Given the description of an element on the screen output the (x, y) to click on. 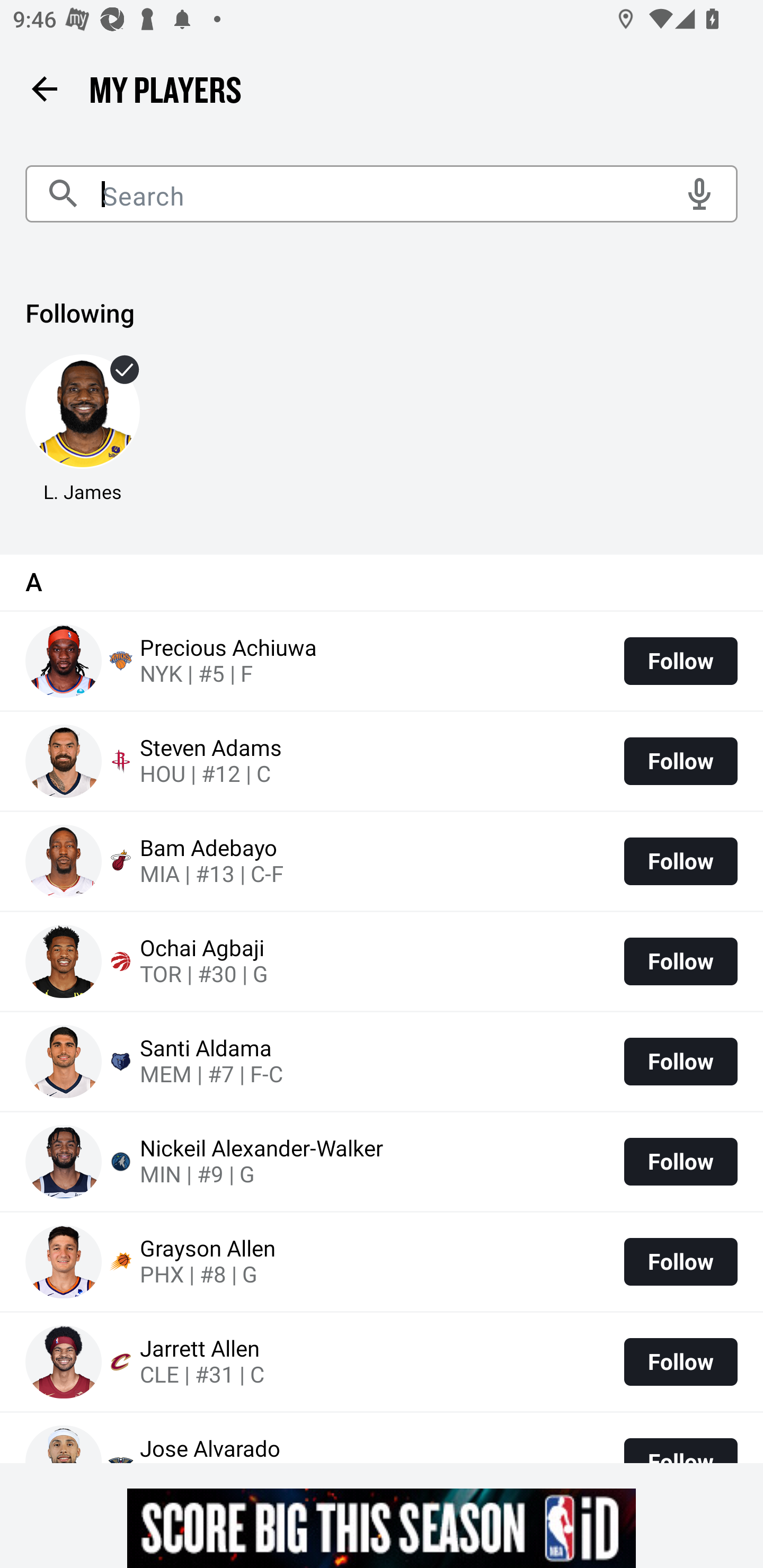
Back button (44, 88)
Search (381, 193)
Follow (680, 660)
Follow (680, 760)
Follow (680, 861)
Follow (680, 961)
Follow (680, 1061)
Follow (680, 1161)
Follow (680, 1261)
Follow (680, 1361)
g5nqqygr7owph (381, 1528)
